Given the description of an element on the screen output the (x, y) to click on. 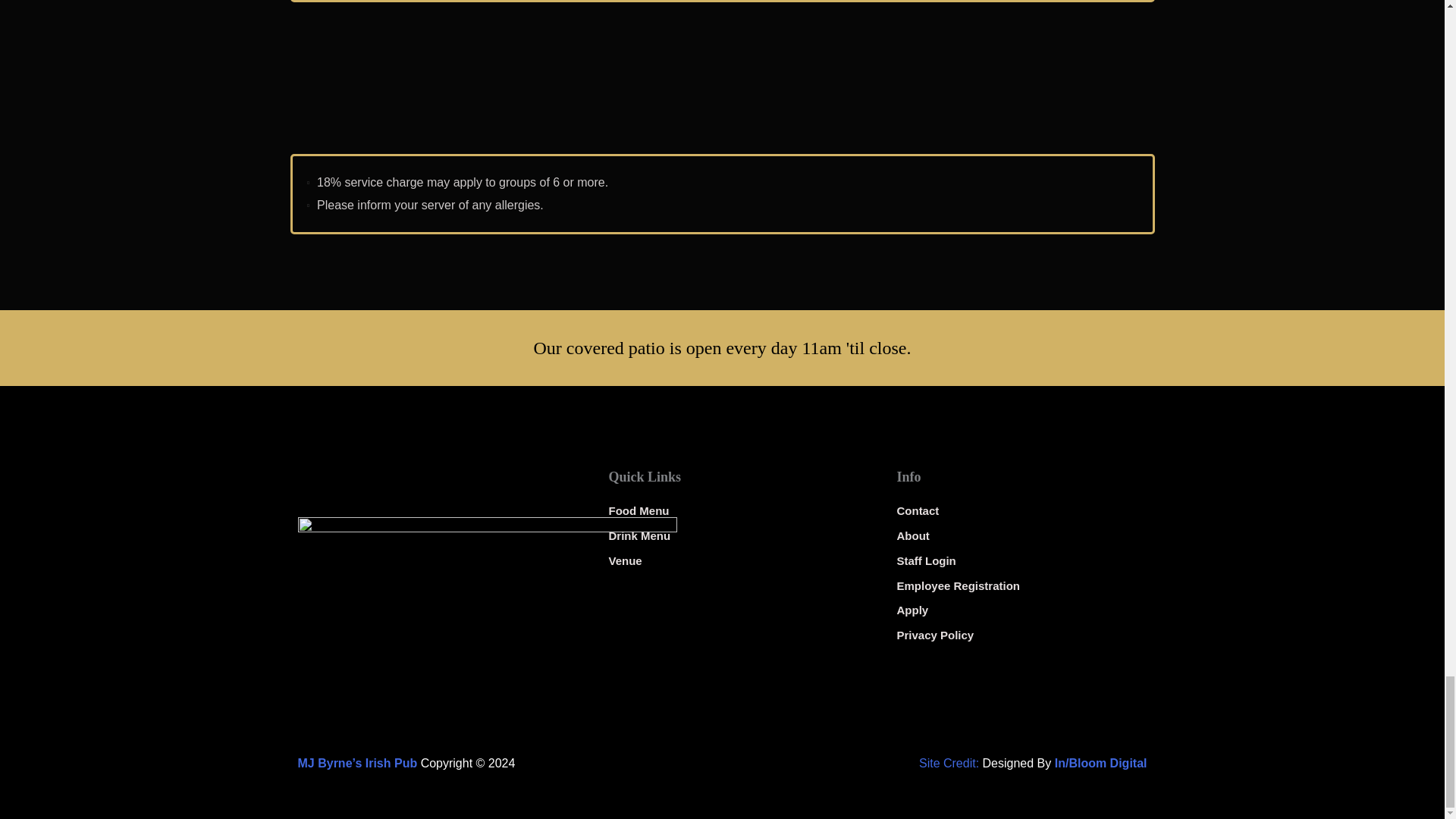
About (1017, 536)
Contact (1017, 510)
Apply (1017, 609)
Drink Menu (729, 536)
Venue (729, 560)
Privacy Policy (1017, 635)
Food Menu (729, 510)
Staff Login (1017, 560)
Site Credit: (948, 762)
Employee Registration (1017, 586)
